Given the description of an element on the screen output the (x, y) to click on. 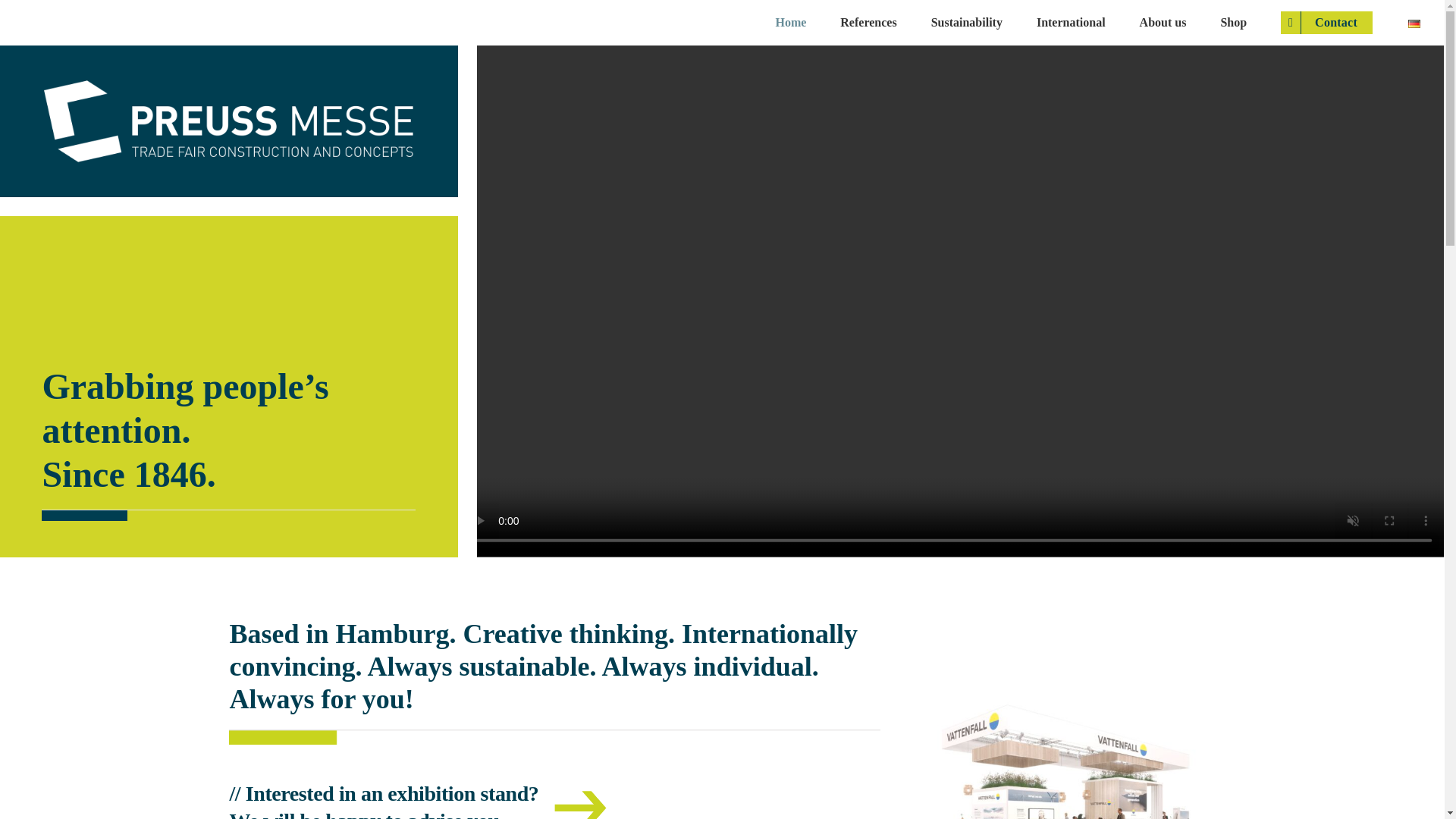
International (1070, 22)
References (868, 22)
Trenner Blau Kurz (228, 515)
Trenner (553, 736)
About us (1163, 22)
Contact (1327, 22)
Sustainability (967, 22)
Messestand Vattenfall (1063, 755)
